Given the description of an element on the screen output the (x, y) to click on. 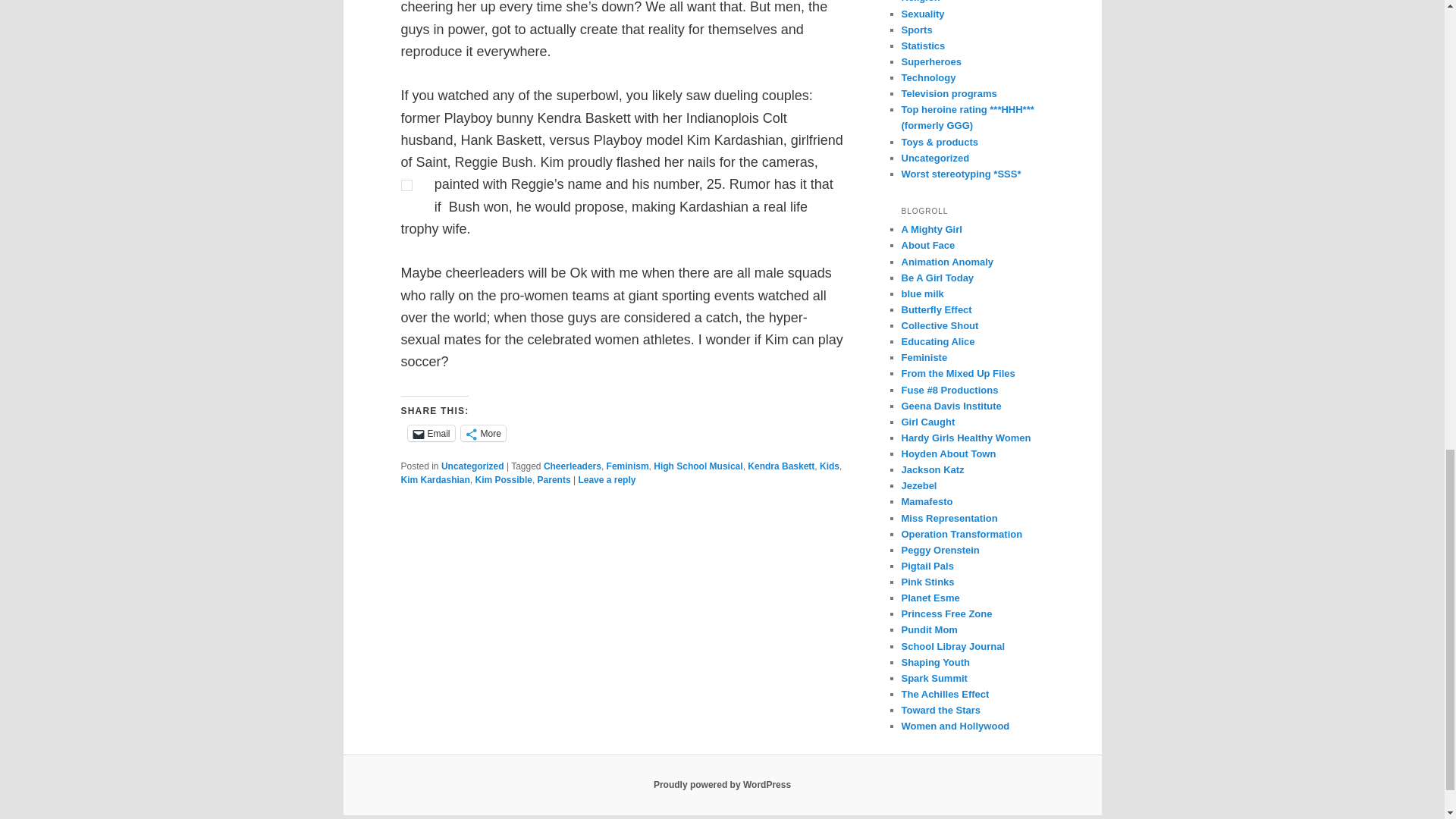
Click to email a link to a friend (430, 433)
Parents (553, 480)
Uncategorized (472, 466)
High School Musical (697, 466)
Kim Possible (504, 480)
Feminism (628, 466)
Semantic Personal Publishing Platform (721, 784)
More (483, 433)
Kim Kardashian (434, 480)
Kids (829, 466)
Cheerleaders (572, 466)
Kendra Baskett (780, 466)
Email (430, 433)
Leave a reply (606, 480)
